Given the description of an element on the screen output the (x, y) to click on. 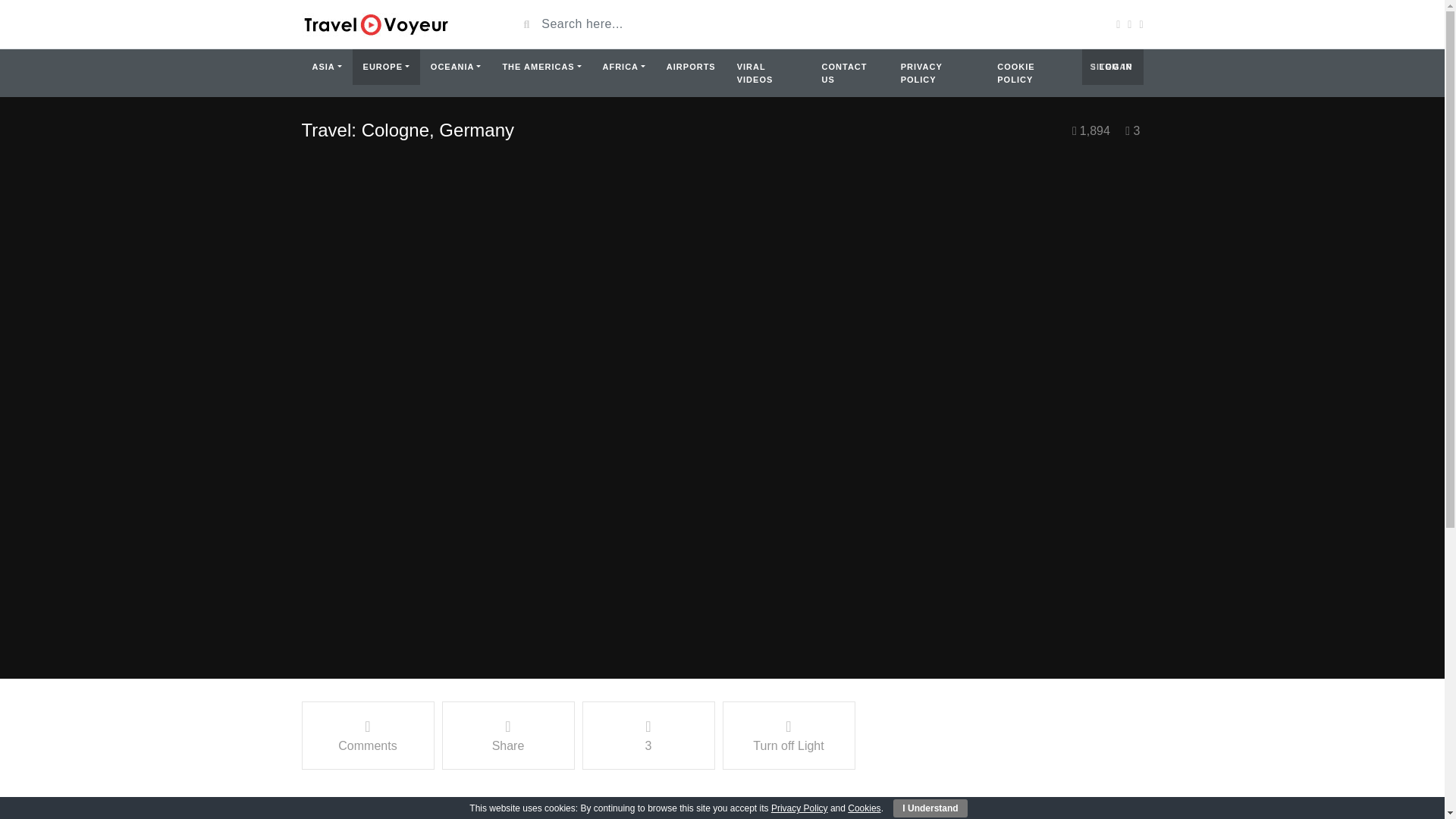
Asia (326, 67)
ASIA (326, 67)
Comments (367, 735)
